Given the description of an element on the screen output the (x, y) to click on. 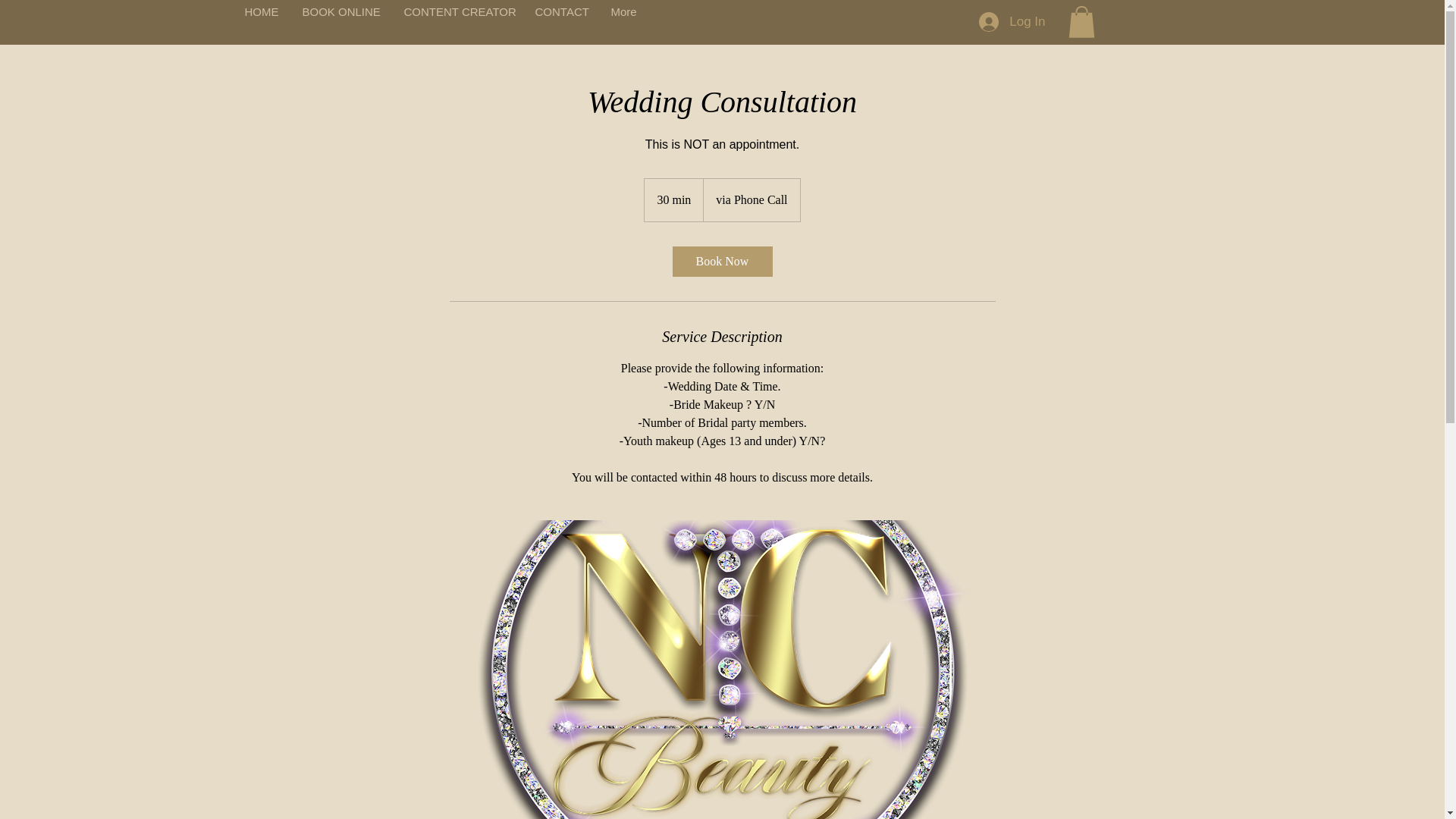
BOOK ONLINE (340, 12)
CONTENT CREATOR (456, 12)
HOME (260, 12)
CONTACT (560, 12)
Book Now (721, 261)
Log In (1011, 21)
